Given the description of an element on the screen output the (x, y) to click on. 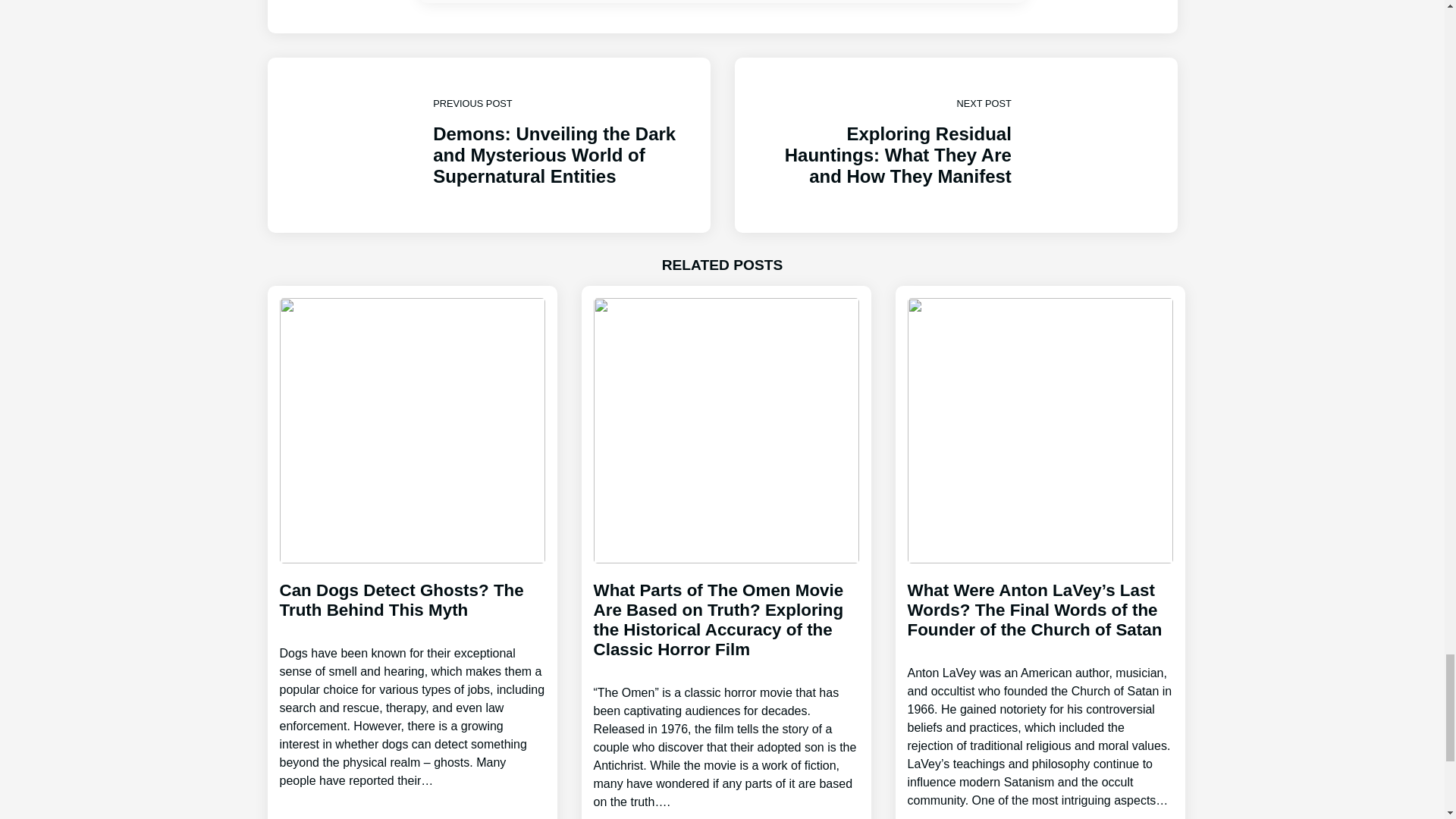
Can Dogs Detect Ghosts? The Truth Behind This Myth (411, 671)
